Given the description of an element on the screen output the (x, y) to click on. 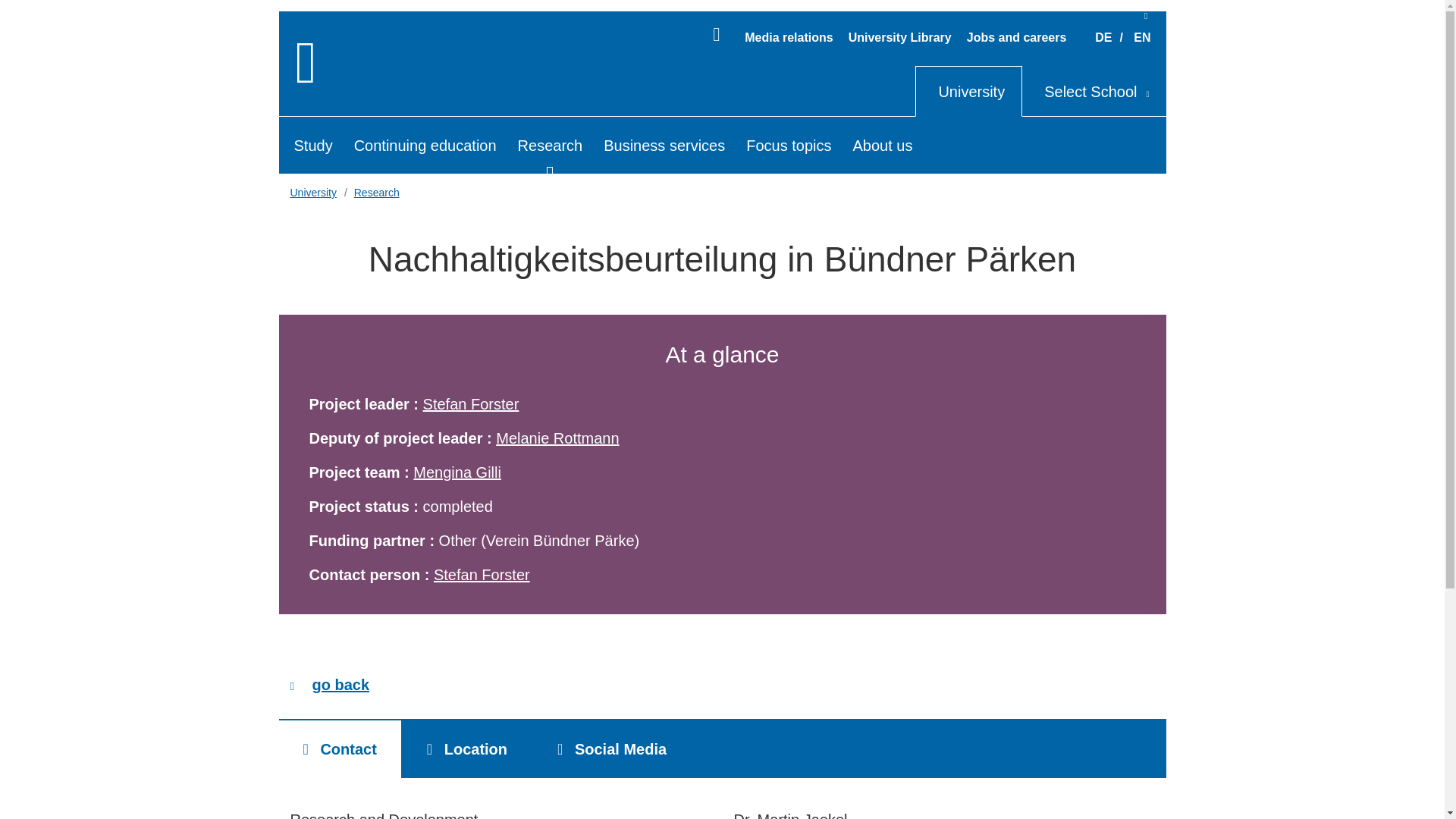
DE (1103, 37)
Jobs and careers (1016, 37)
Select School (1094, 91)
Business and Advisory Services (659, 145)
The five focus topics of the ZHAW (783, 145)
Research for society and business (545, 145)
University Library (900, 37)
Study (309, 145)
Media relations (788, 37)
